Given the description of an element on the screen output the (x, y) to click on. 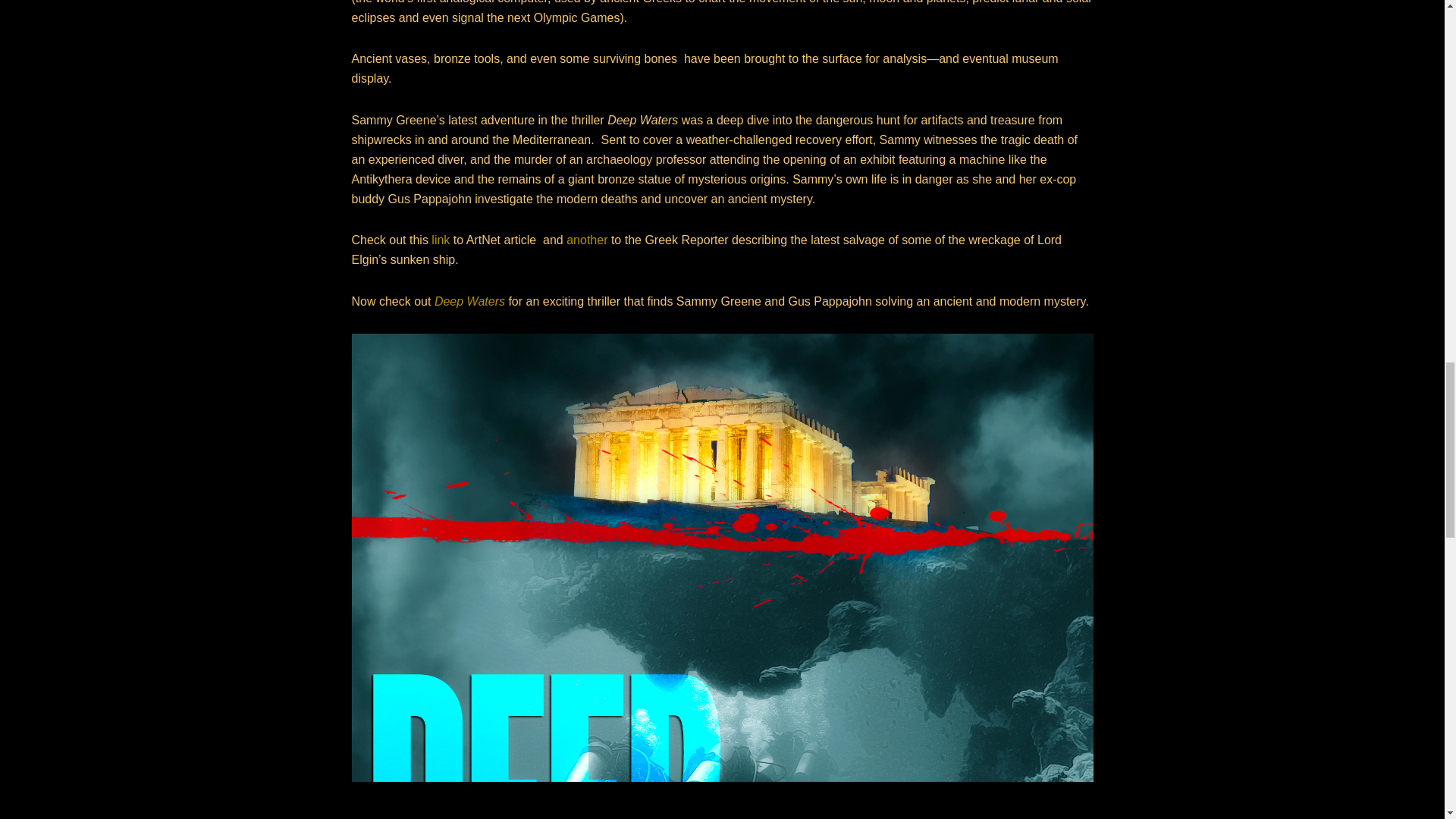
link (439, 239)
another (586, 239)
Deep Waters (469, 300)
